Given the description of an element on the screen output the (x, y) to click on. 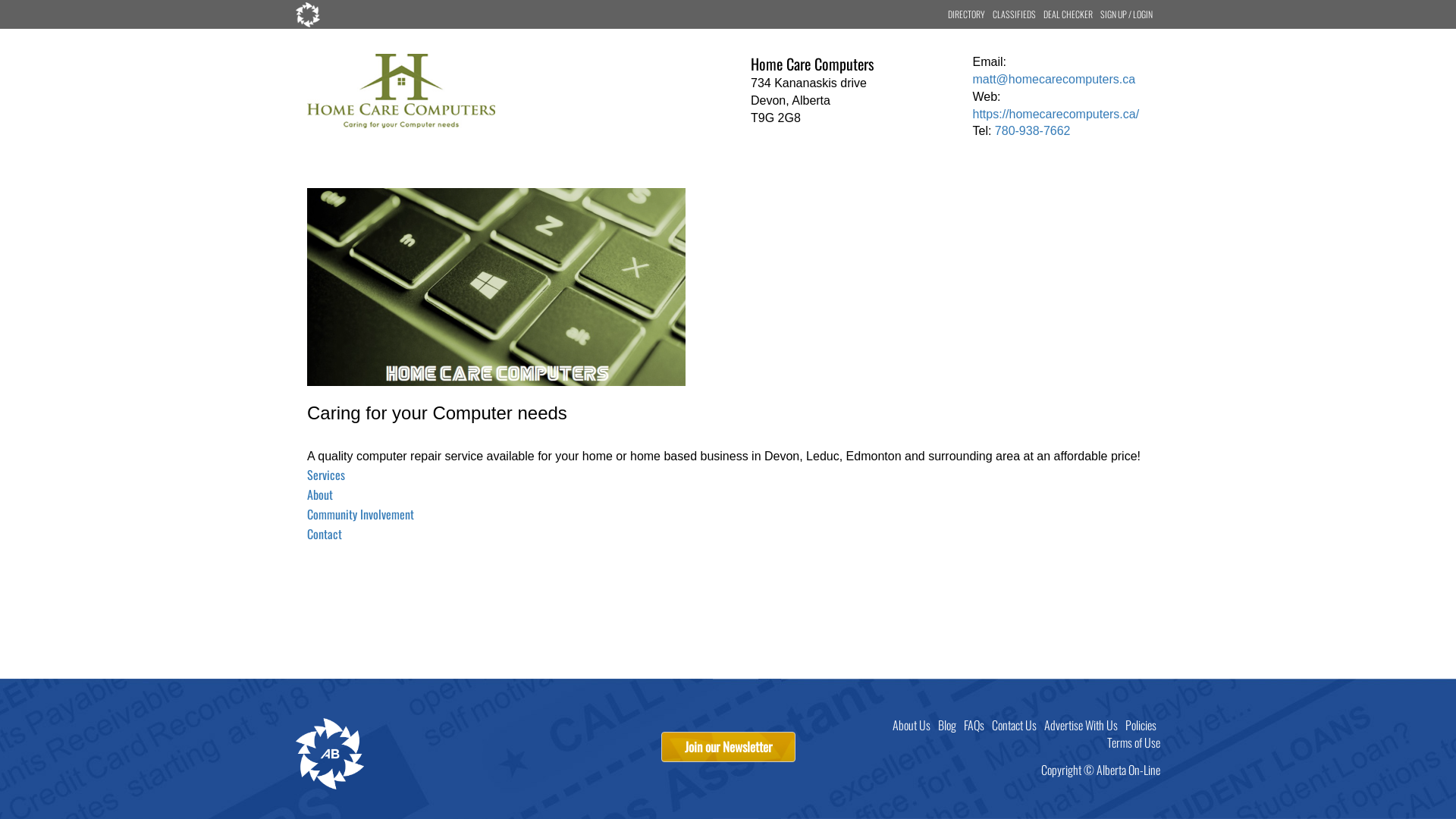
Blog Element type: text (947, 724)
Contact Us Element type: text (1013, 724)
Community Involvement Element type: text (360, 514)
Terms of Use Element type: text (1133, 742)
CLASSIFIEDS Element type: text (1013, 13)
780-938-7662 Element type: text (1032, 130)
Advertise With Us Element type: text (1080, 724)
FAQs Element type: text (973, 724)
Services Element type: text (326, 475)
matt@homecarecomputers.ca Element type: text (1053, 78)
About Us Element type: text (911, 724)
Contact Element type: text (324, 534)
https://homecarecomputers.ca/ Element type: text (1055, 113)
Policies Element type: text (1140, 724)
Join our Newsletter Element type: text (728, 746)
DIRECTORY Element type: text (966, 13)
About Element type: text (319, 495)
DEAL CHECKER Element type: text (1067, 13)
SIGN UP / LOGIN Element type: text (1126, 13)
